Given the description of an element on the screen output the (x, y) to click on. 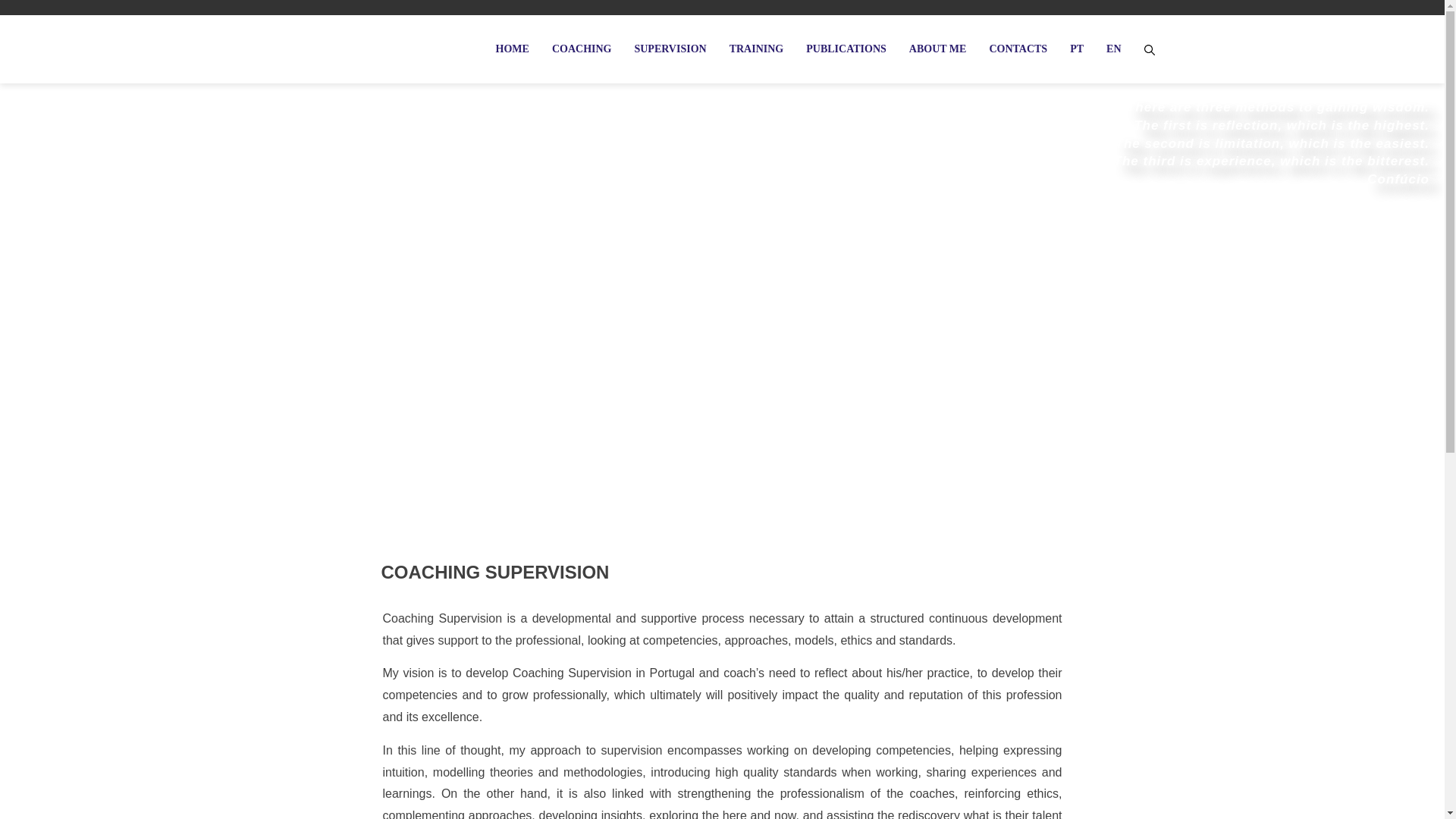
CONTACTS (1017, 49)
HOME (518, 49)
PUBLICATIONS (846, 49)
ABOUT ME (938, 49)
COACHING (581, 49)
EN (1113, 49)
Search (34, 15)
SUPERVISION (670, 49)
PT (1076, 49)
TRAINING (755, 49)
